Given the description of an element on the screen output the (x, y) to click on. 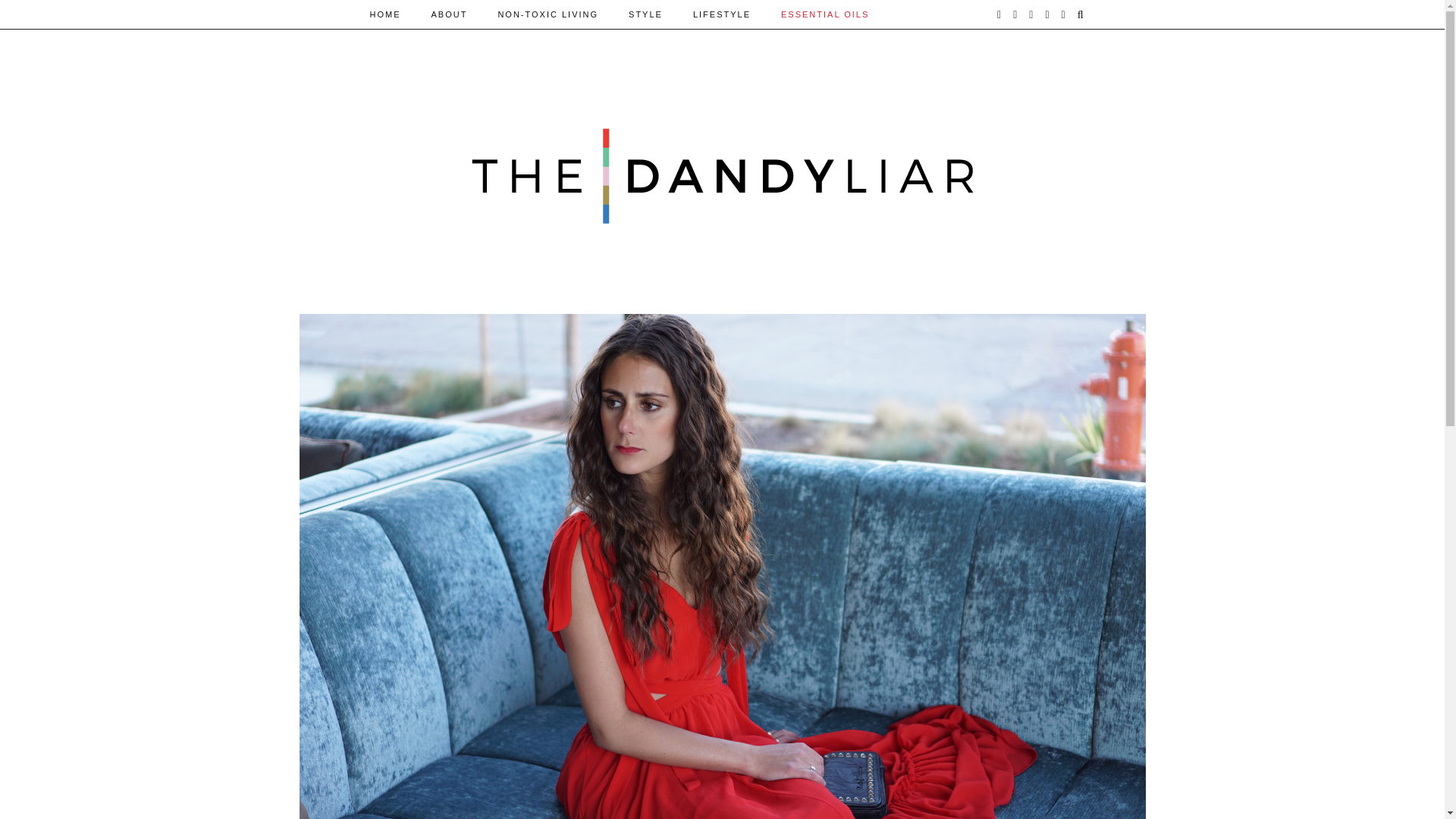
NON-TOXIC LIVING (546, 14)
STYLE (645, 14)
LIFESTYLE (721, 14)
ESSENTIAL OILS (824, 14)
HOME (385, 14)
ABOUT (447, 14)
